Given the description of an element on the screen output the (x, y) to click on. 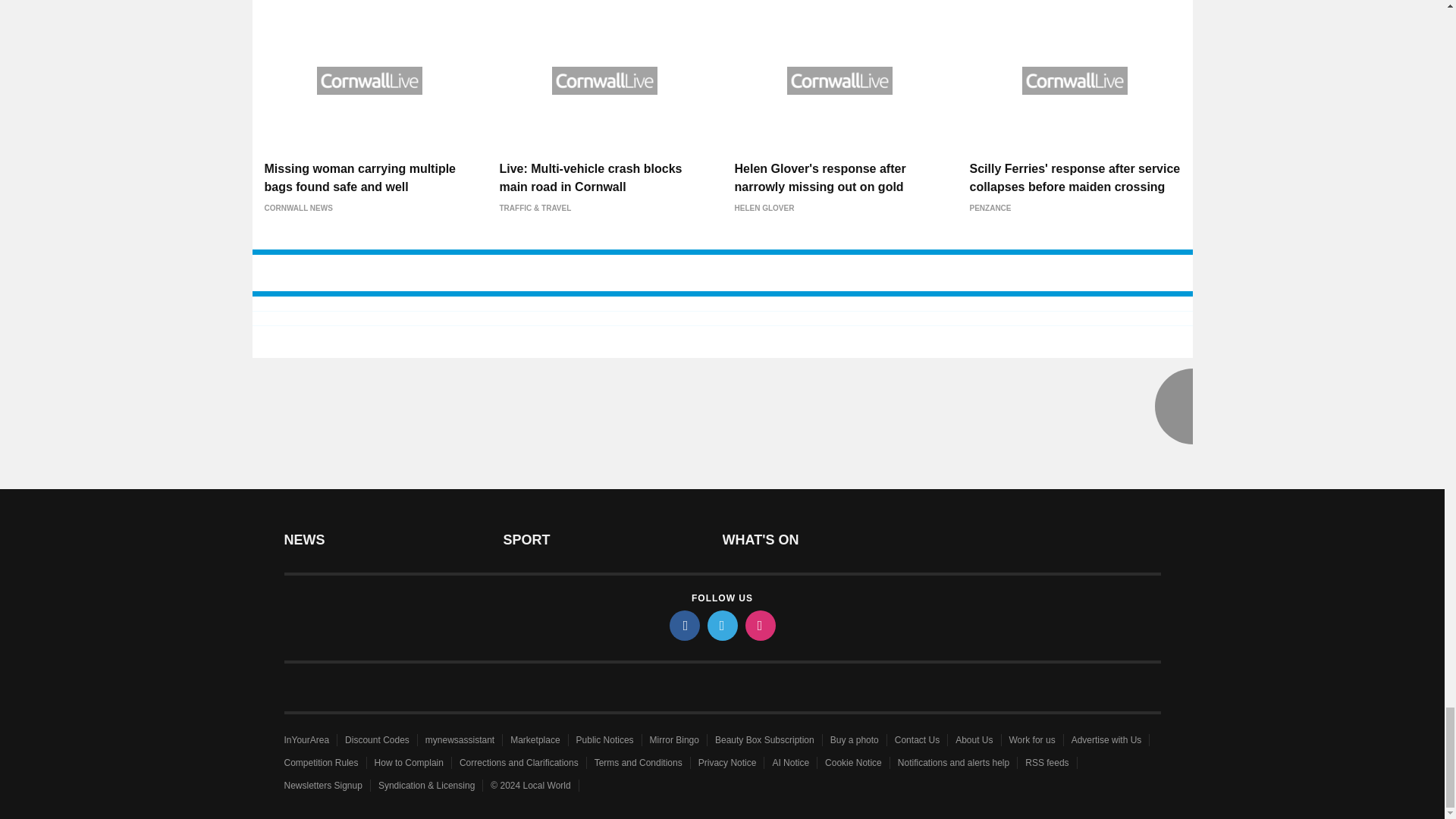
facebook (683, 625)
instagram (759, 625)
twitter (721, 625)
